Given the description of an element on the screen output the (x, y) to click on. 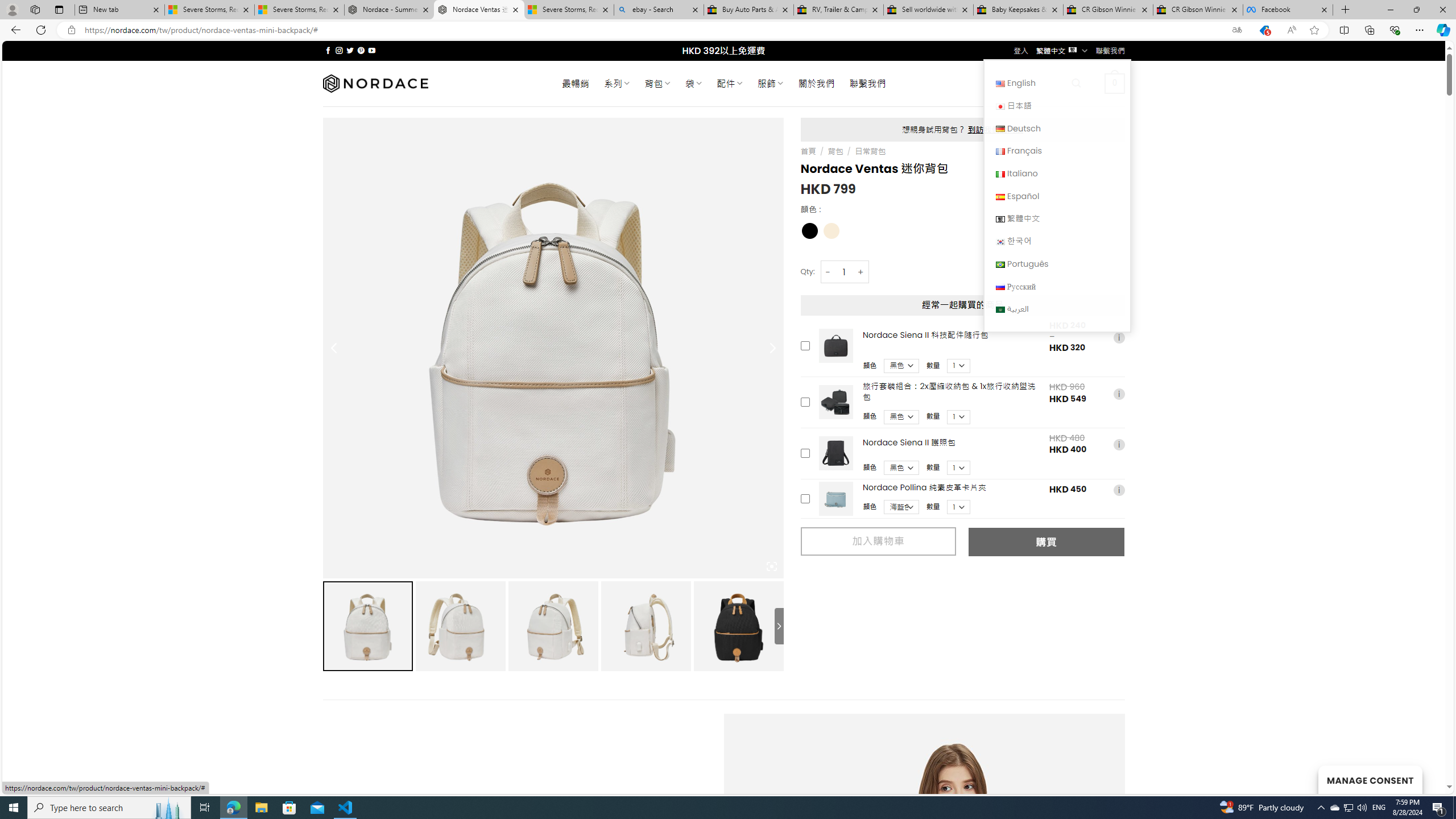
Baby Keepsakes & Announcements for sale | eBay (1018, 9)
Facebook (1287, 9)
i (1118, 490)
Follow on Twitter (349, 50)
English (999, 83)
